Given the description of an element on the screen output the (x, y) to click on. 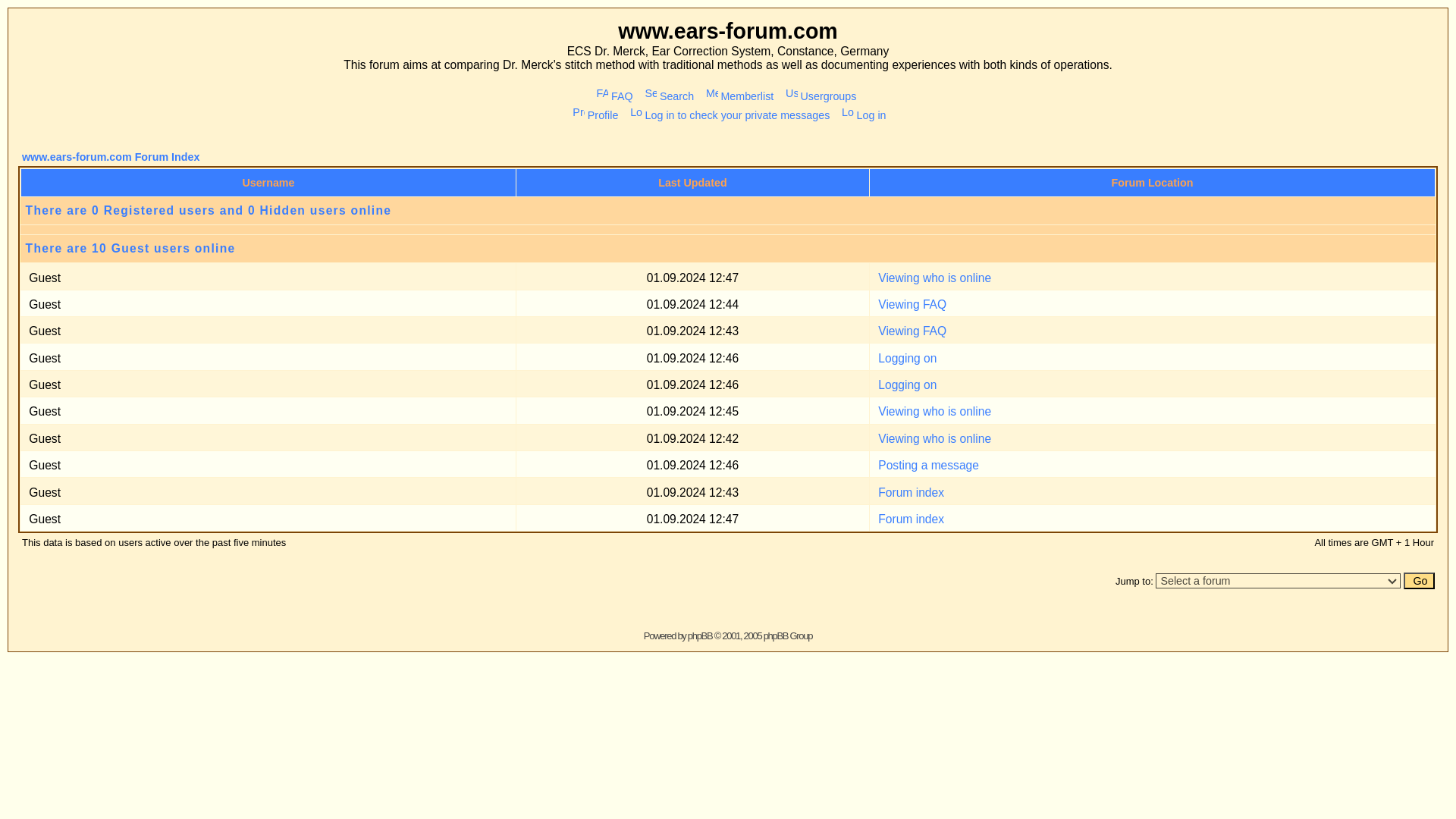
Memberlist (567, 73)
Go (1091, 445)
Logging on (697, 275)
Search (513, 73)
Log in (663, 88)
Viewing FAQ (701, 254)
Logging on (697, 296)
Viewing who is online (718, 337)
Profile (457, 88)
FAQ (471, 73)
